Given the description of an element on the screen output the (x, y) to click on. 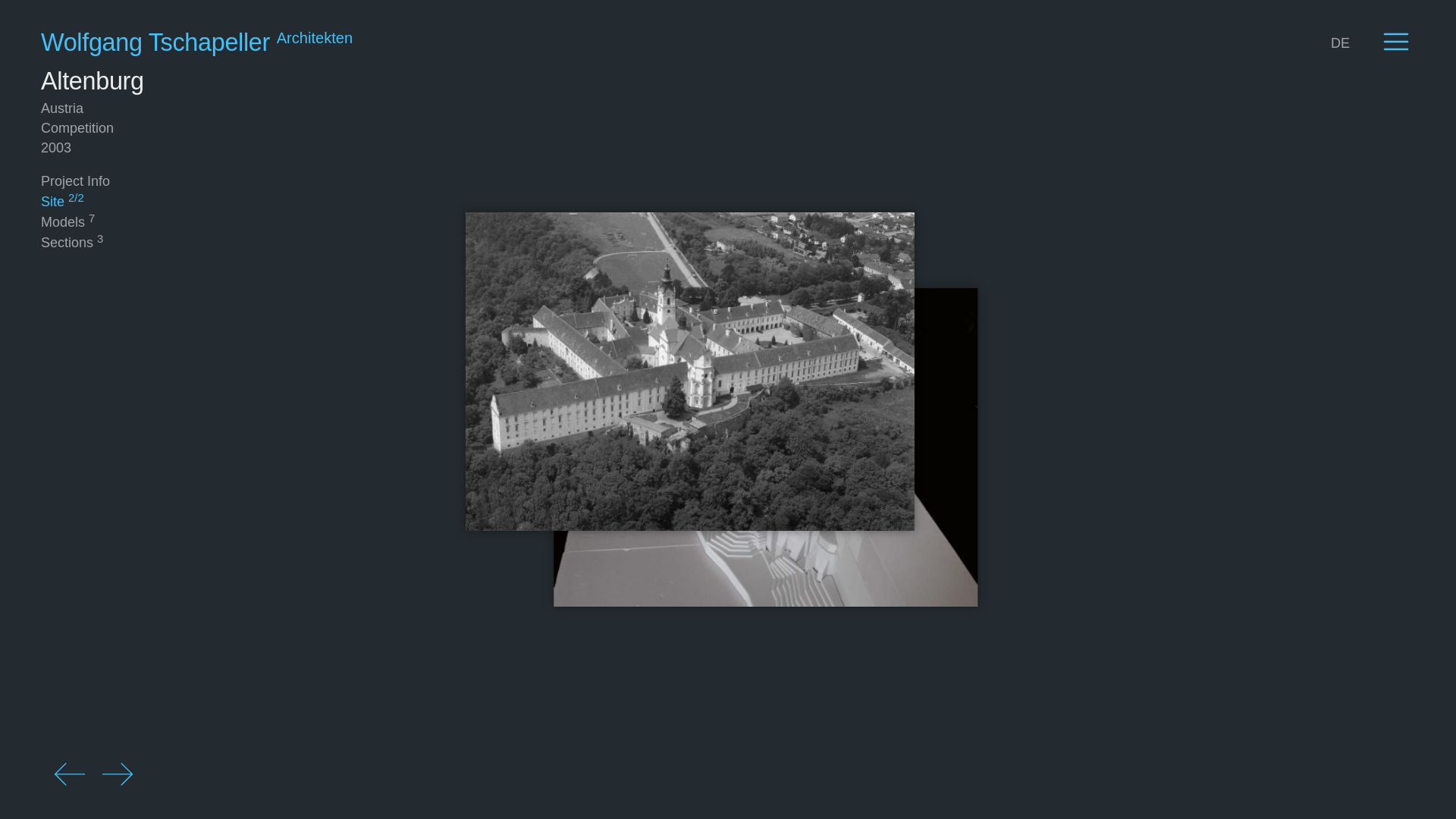
German (1339, 42)
